Given the description of an element on the screen output the (x, y) to click on. 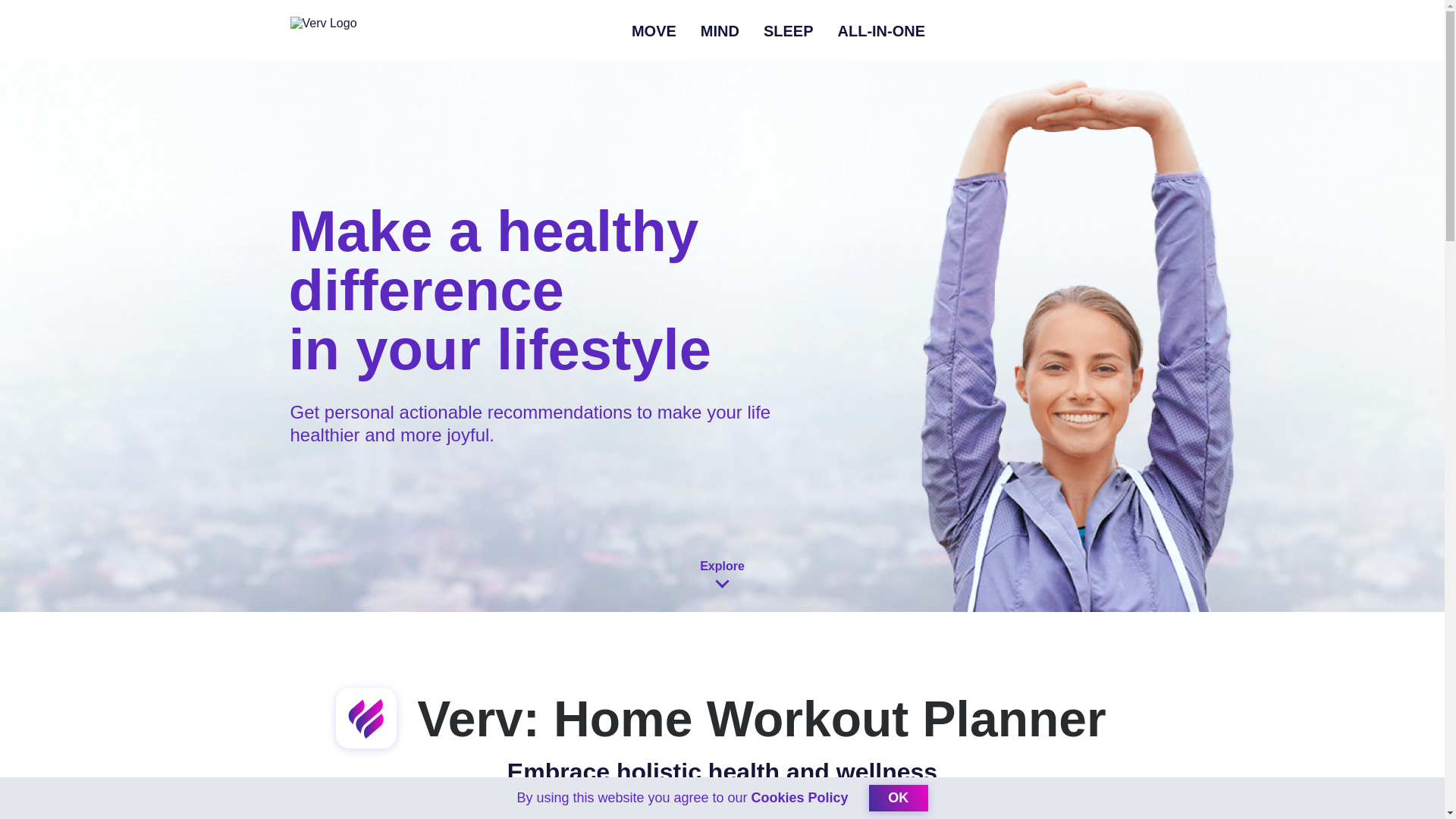
SLEEP (787, 30)
Explore (722, 582)
MOVE (654, 30)
ALL-IN-ONE (882, 30)
MIND (719, 30)
